Given the description of an element on the screen output the (x, y) to click on. 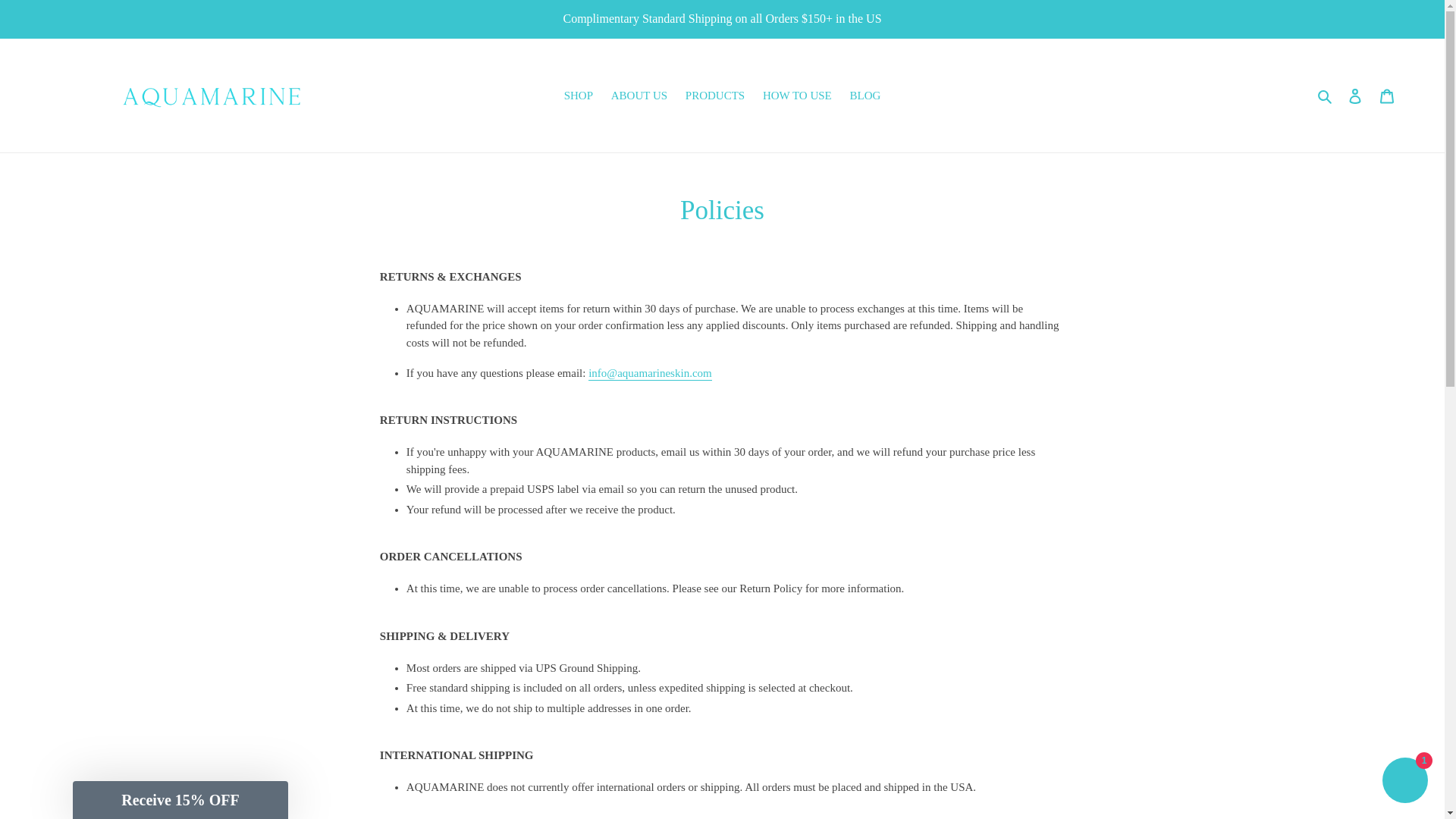
Submit (30, 15)
Search (1326, 95)
HOW TO USE (797, 96)
Shopify online store chat (1404, 781)
SHOP (577, 96)
PRODUCTS (715, 96)
ABOUT US (639, 96)
BLOG (865, 96)
Bag (1387, 95)
Log in (1355, 95)
